Given the description of an element on the screen output the (x, y) to click on. 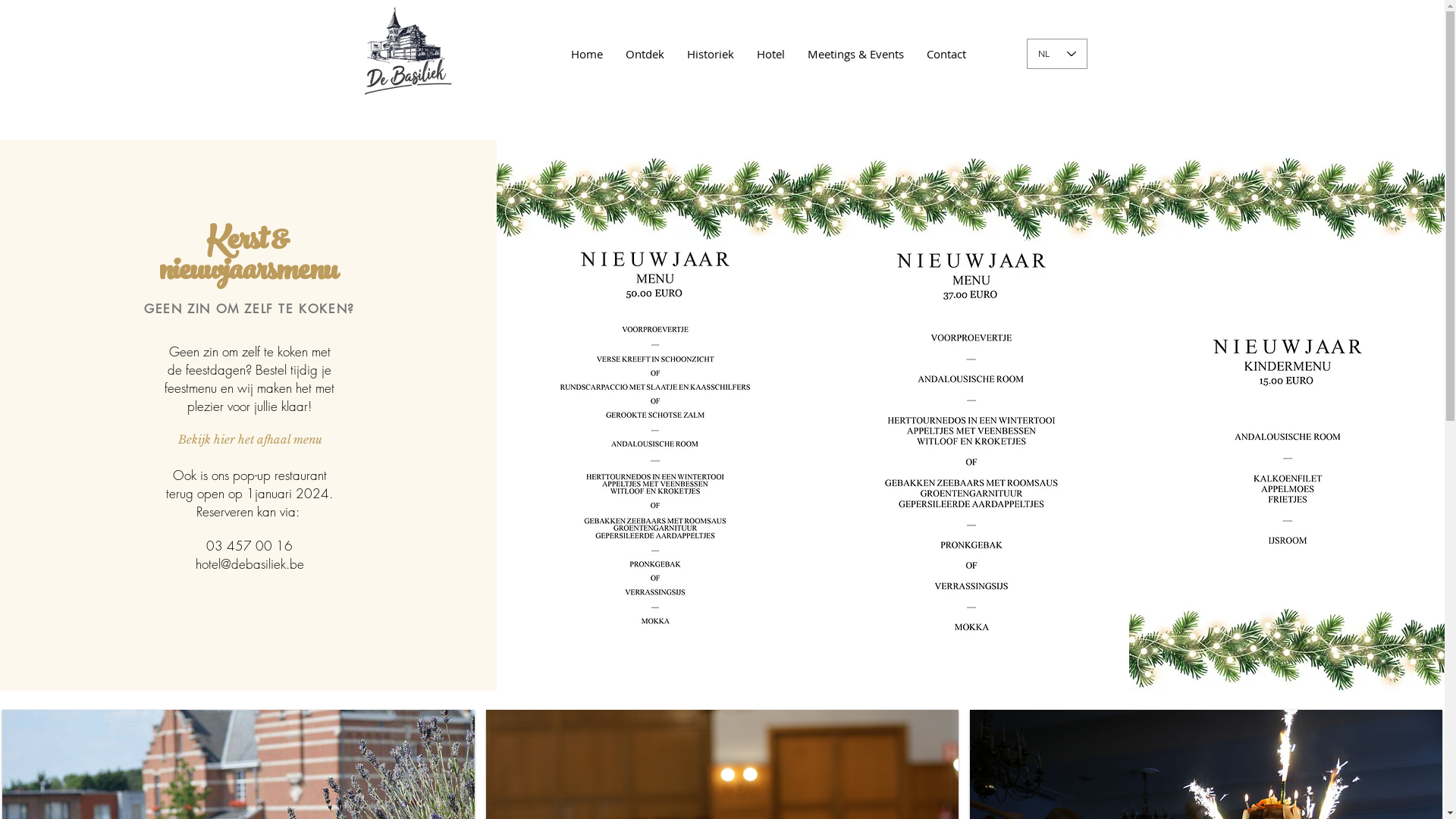
Bekijk hier het afhaal menu Element type: text (249, 438)
Meetings & Events Element type: text (855, 53)
Ontdek Element type: text (644, 53)
Hotel Element type: text (769, 53)
Home Element type: text (586, 53)
Contact Element type: text (945, 53)
hotel@debasiliek.be Element type: text (249, 563)
Historiek Element type: text (709, 53)
